Given the description of an element on the screen output the (x, y) to click on. 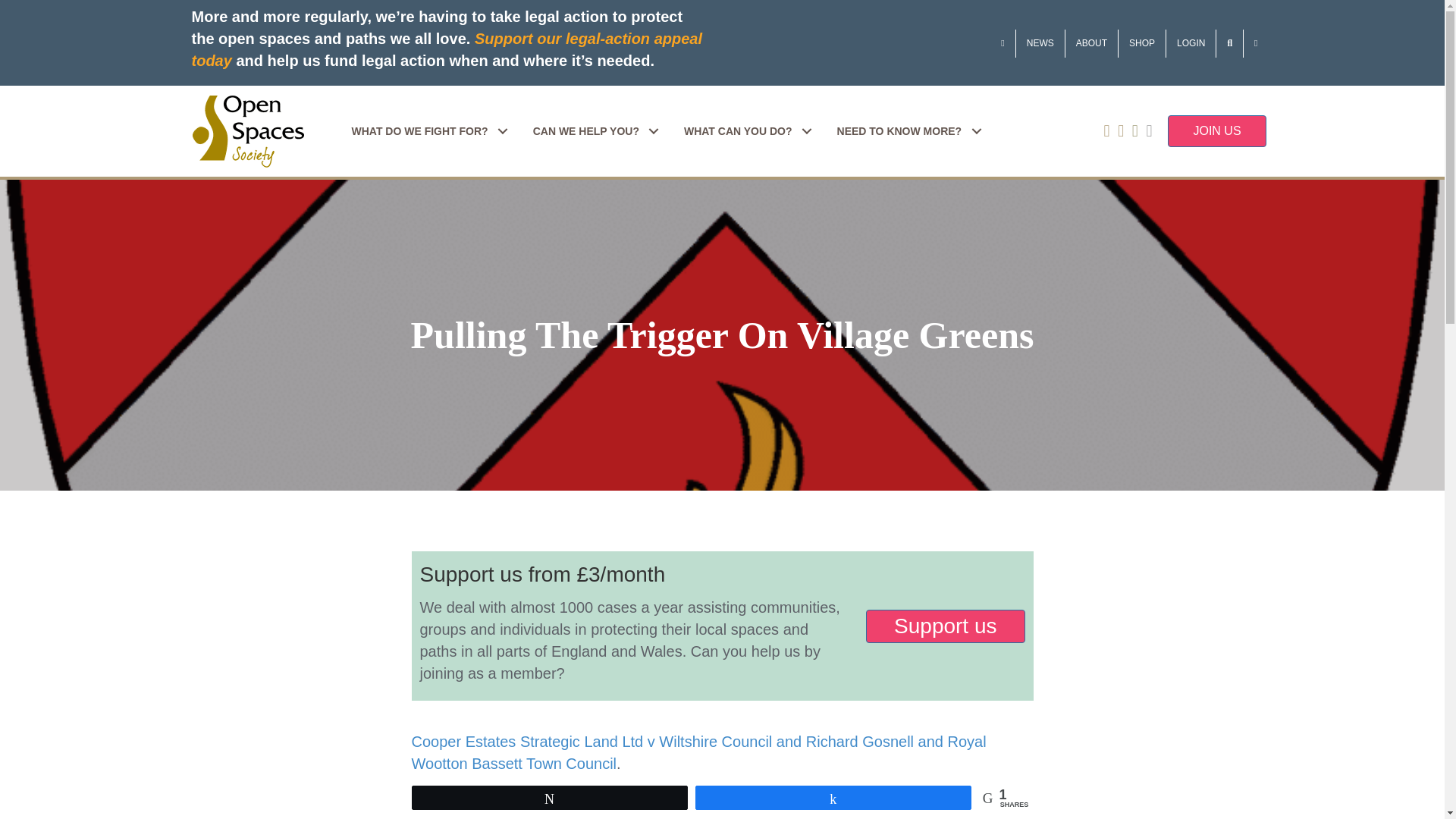
Search (1229, 43)
Support our legal-action appeal today (445, 49)
ABOUT (1091, 43)
NEWS (1040, 43)
Open Spaces Society Logo (247, 131)
SHOP (1142, 43)
LOGIN (1190, 43)
